Given the description of an element on the screen output the (x, y) to click on. 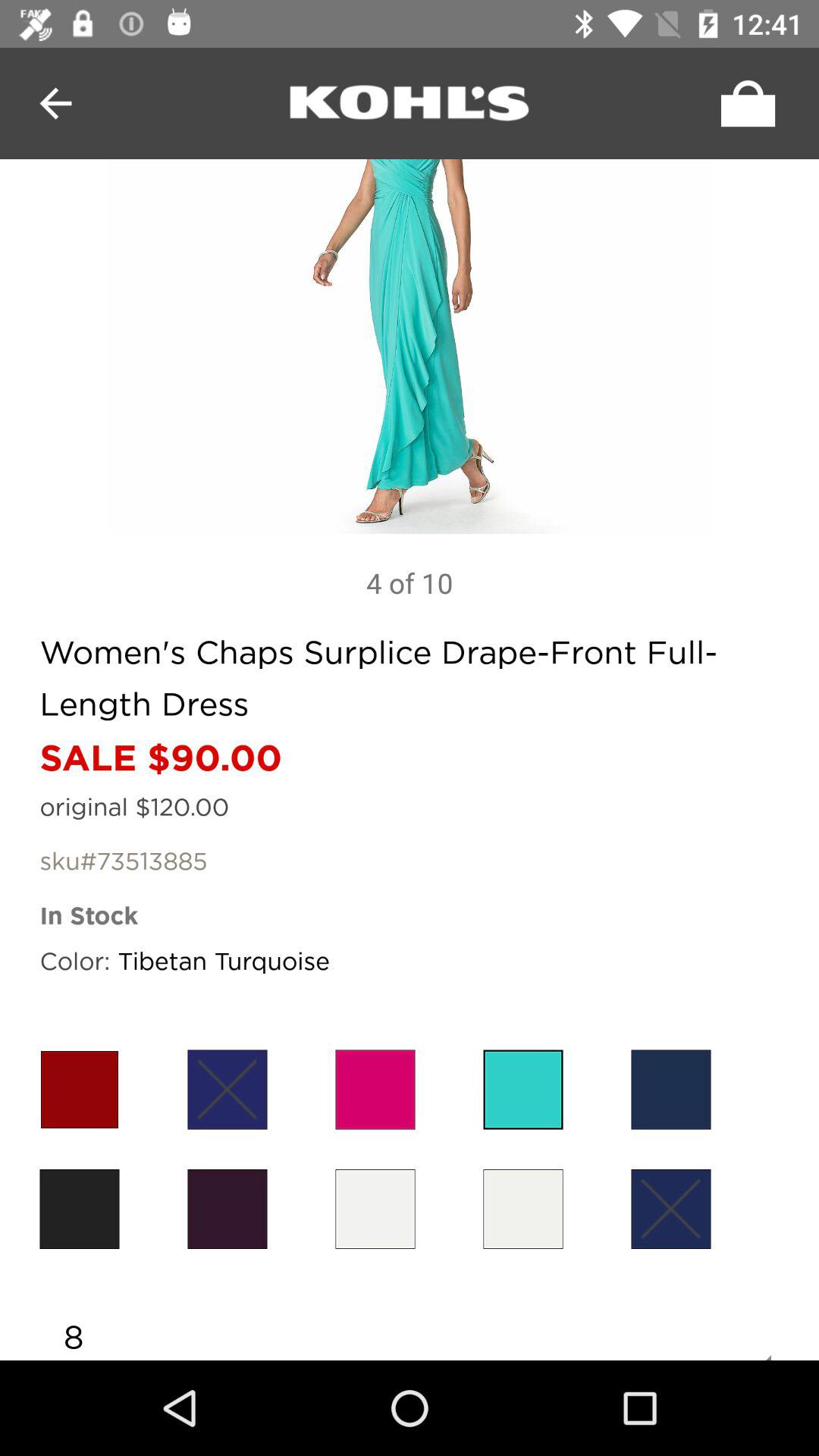
launch the item below color: icon (79, 1089)
